Given the description of an element on the screen output the (x, y) to click on. 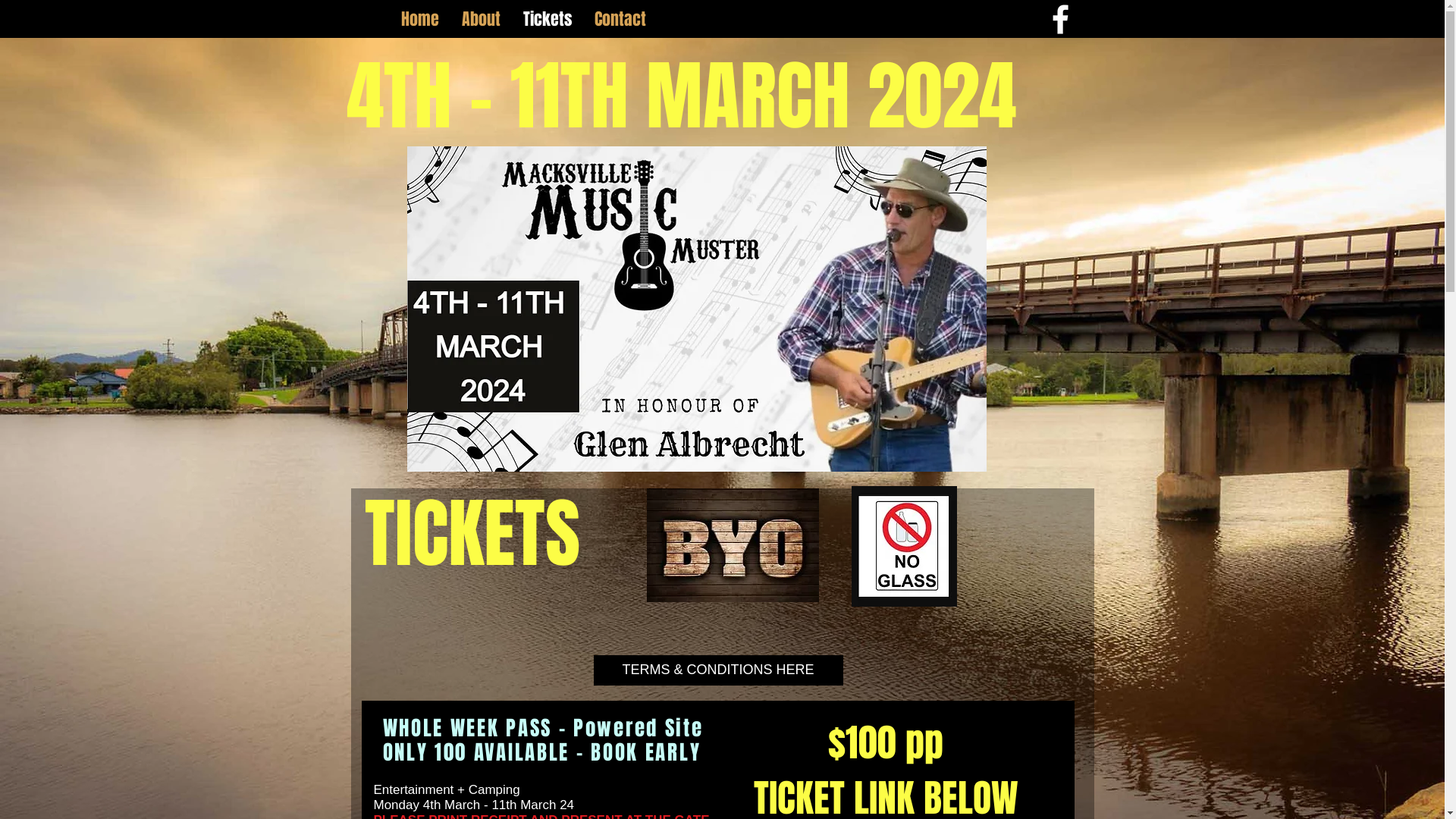
About Element type: text (480, 18)
Contact Element type: text (619, 18)
TERMS & CONDITIONS HERE Element type: text (717, 670)
Home Element type: text (419, 18)
Tickets Element type: text (546, 18)
